Given the description of an element on the screen output the (x, y) to click on. 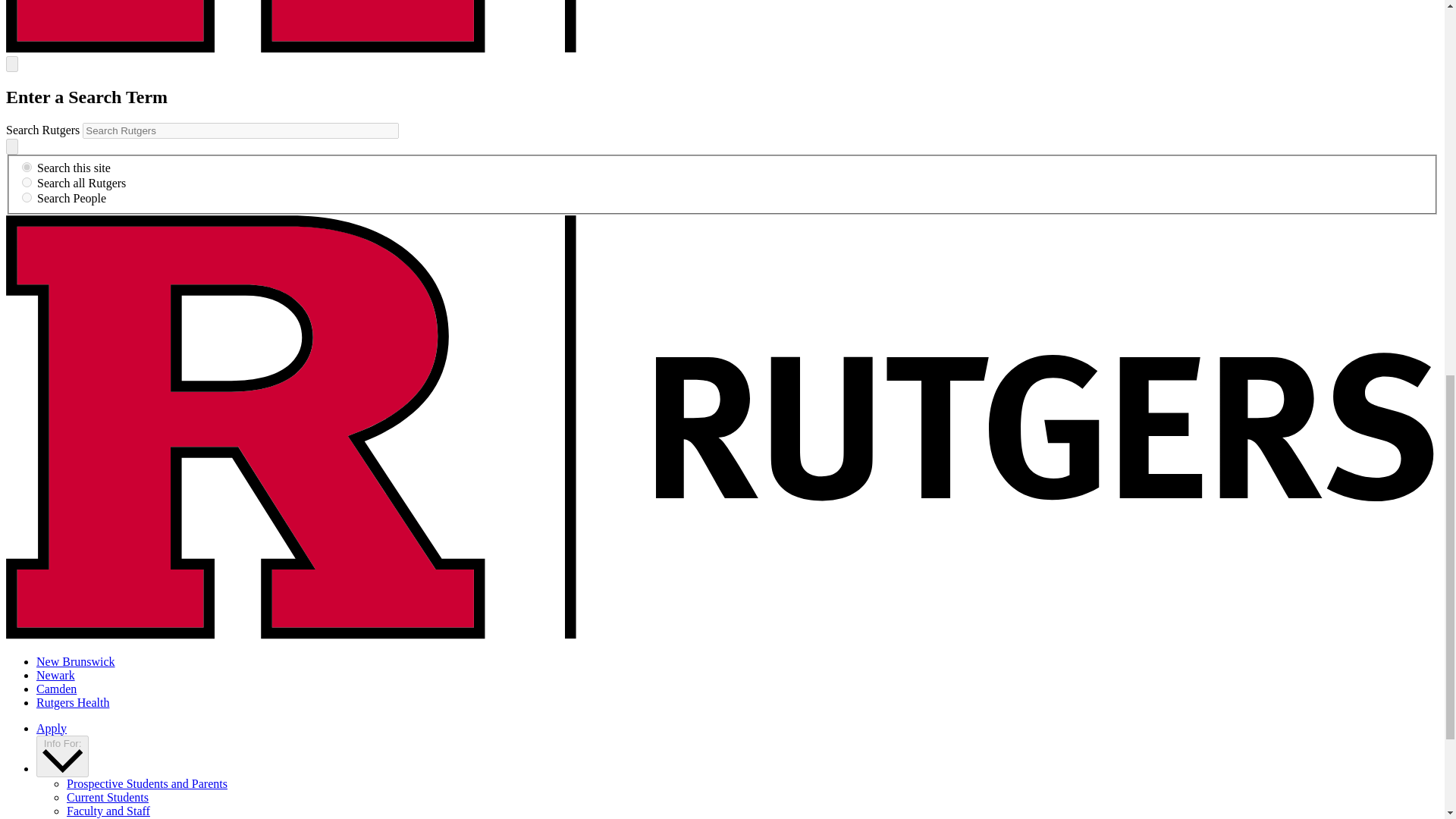
Prospective Students and Parents (146, 783)
New Brunswick (75, 661)
Current Students (107, 797)
Rutgers Health (72, 702)
search-people (26, 197)
Newark (55, 675)
Faculty and Staff (107, 810)
Apply (51, 727)
search-this-site (26, 166)
